Given the description of an element on the screen output the (x, y) to click on. 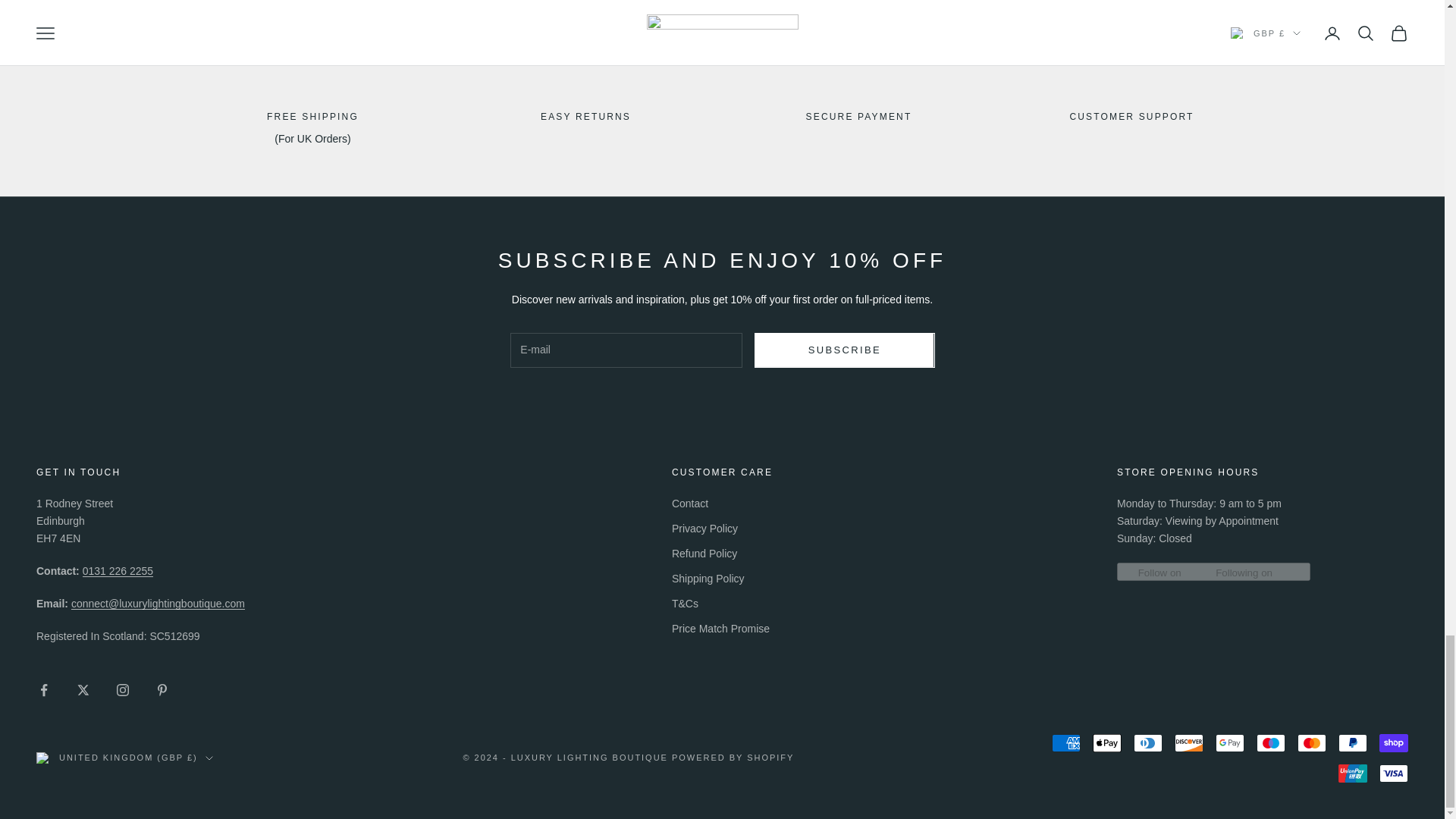
tel:01312262255 (117, 571)
